Given the description of an element on the screen output the (x, y) to click on. 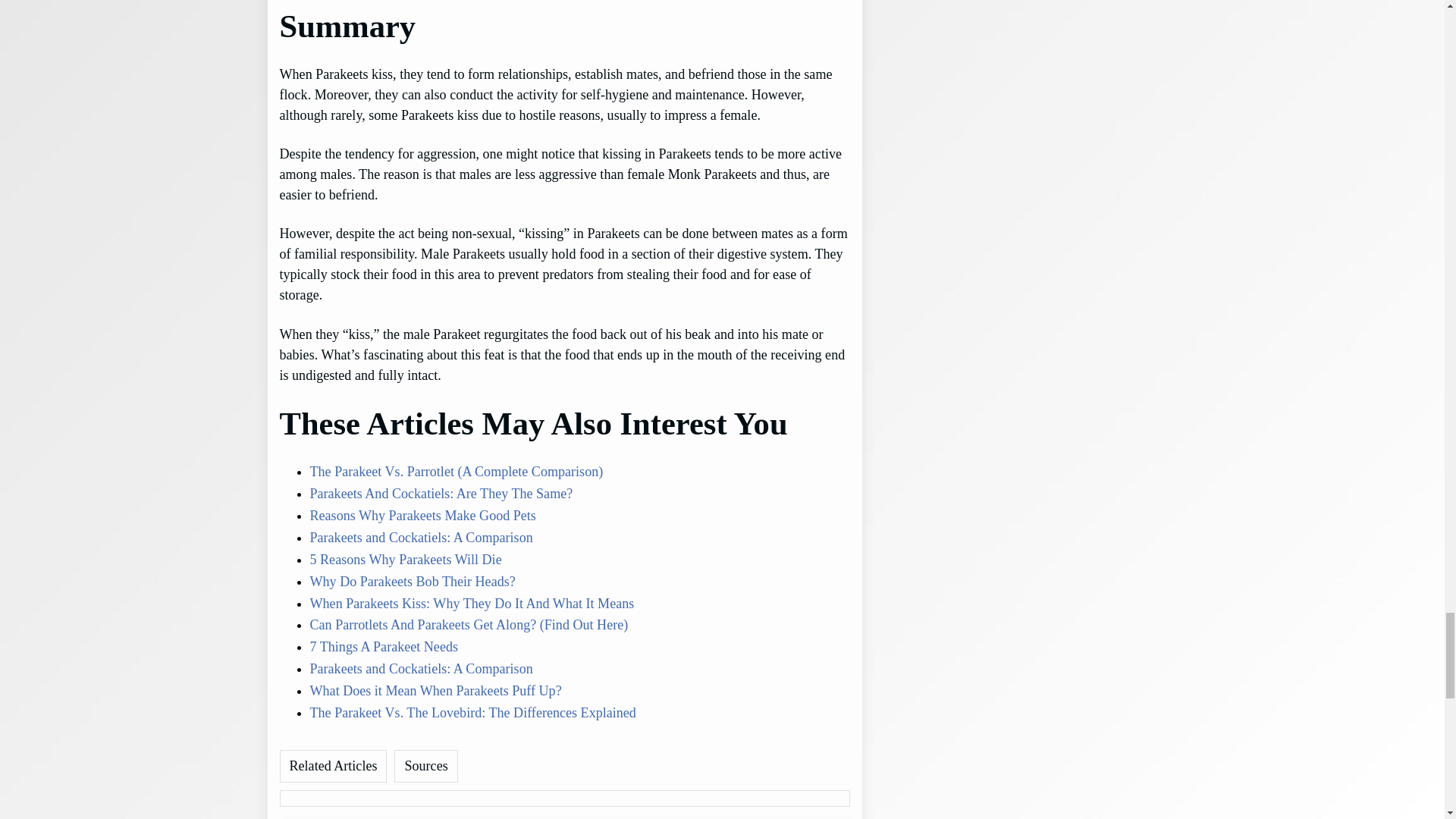
Reasons Why Parakeets Make Good Pets (421, 515)
Parakeets and Cockatiels: A Comparison (420, 537)
5 Reasons Why Parakeets Will Die (404, 559)
Parakeets and Cockatiels: A Comparison (420, 668)
7 Things A Parakeet Needs (382, 646)
What Does it Mean When Parakeets Puff Up? (434, 690)
Parakeets And Cockatiels: Are They The Same? (440, 493)
Why Do Parakeets Bob Their Heads? (411, 581)
When Parakeets Kiss: Why They Do It And What It Means (470, 603)
